Given the description of an element on the screen output the (x, y) to click on. 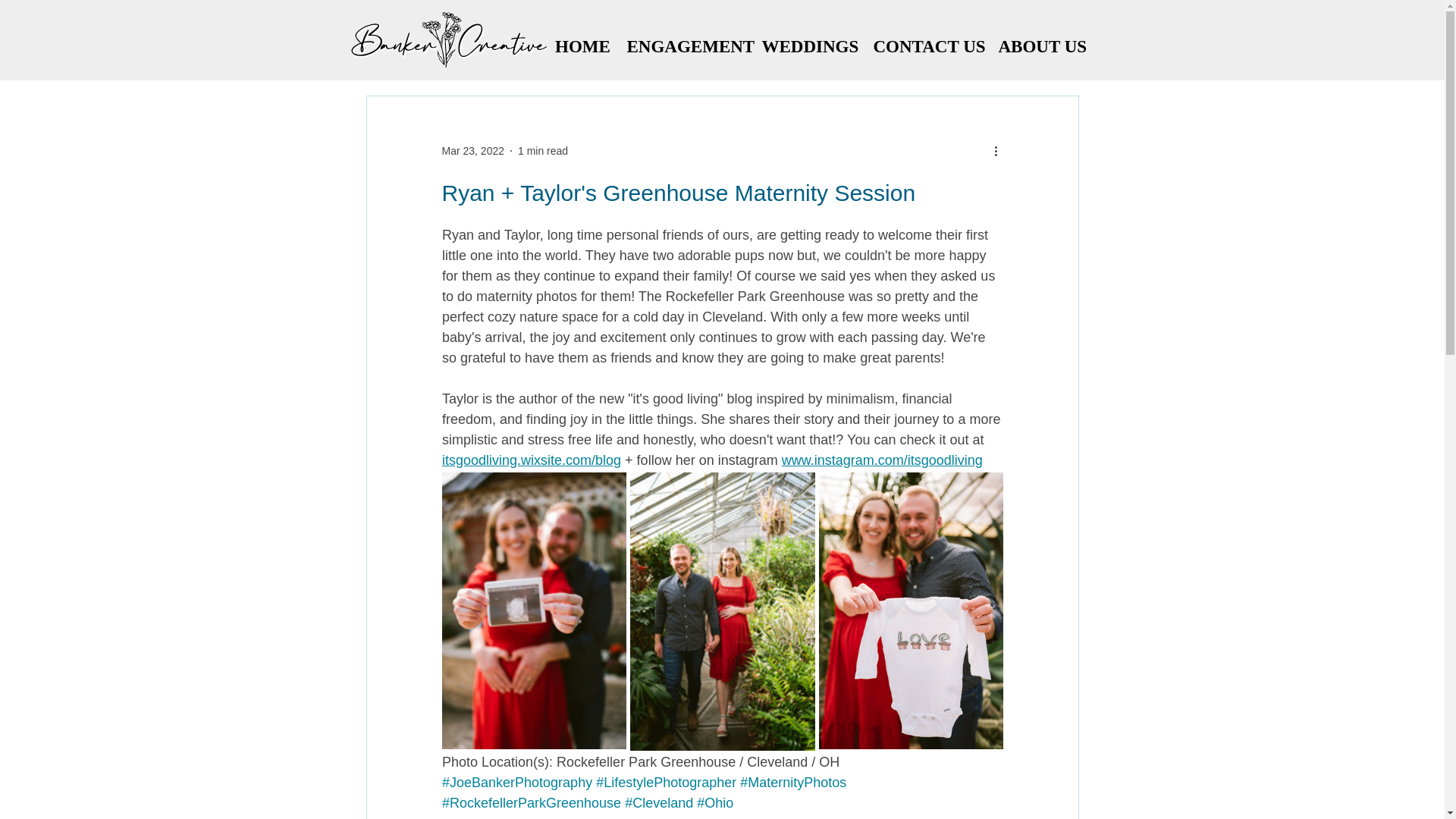
ABOUT US (1041, 46)
CONTACT US (928, 46)
ENGAGEMENT (686, 46)
1 min read (542, 150)
HOME (582, 46)
Mar 23, 2022 (472, 150)
WEDDINGS (809, 46)
